Given the description of an element on the screen output the (x, y) to click on. 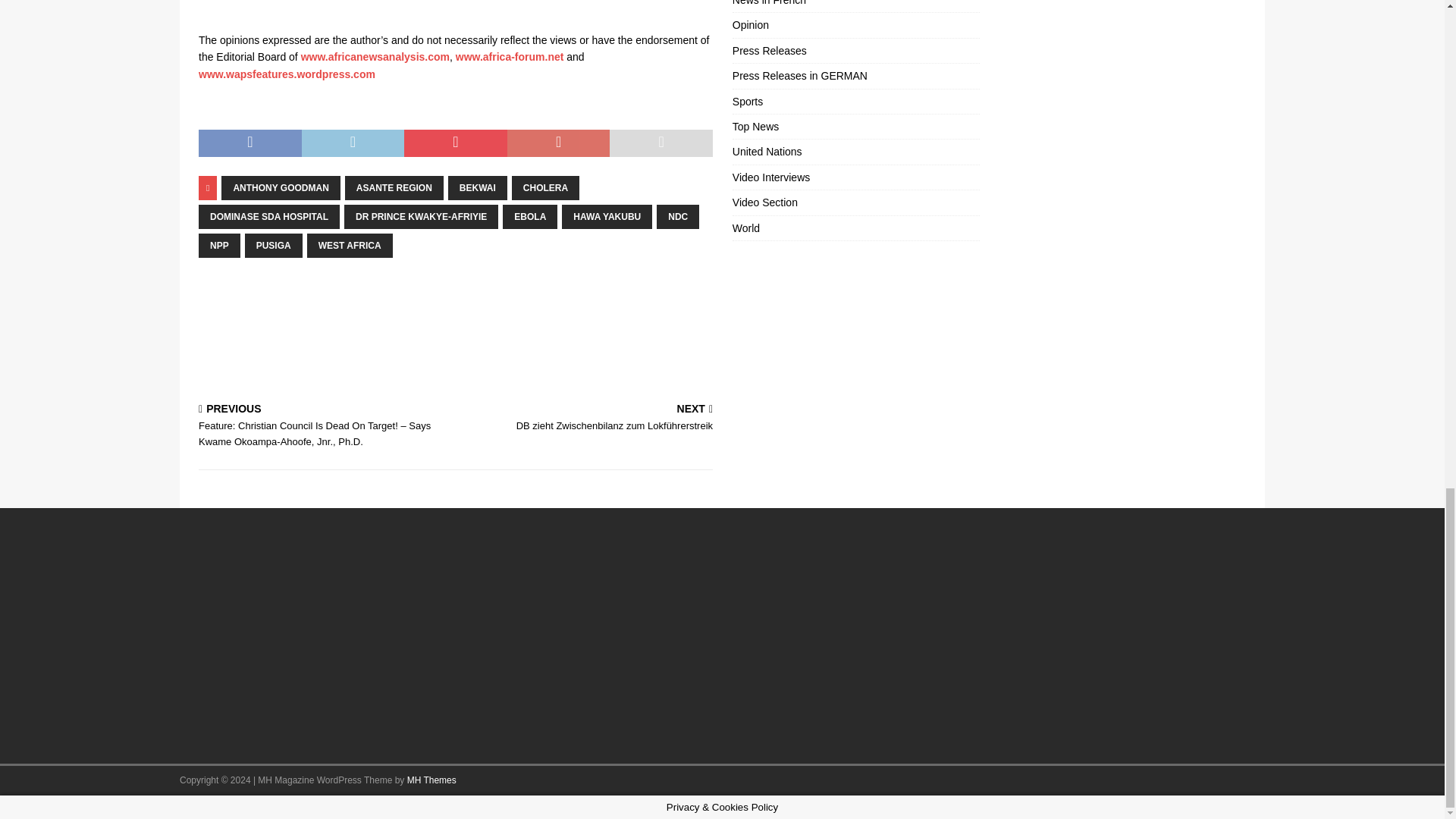
www.wapsfeatures.wordpress.com (286, 73)
BEKWAI (477, 187)
www.africa-forum.net (509, 56)
www.africanewsanalysis.com (375, 56)
ASANTE REGION (394, 187)
ANTHONY GOODMAN (280, 187)
